Given the description of an element on the screen output the (x, y) to click on. 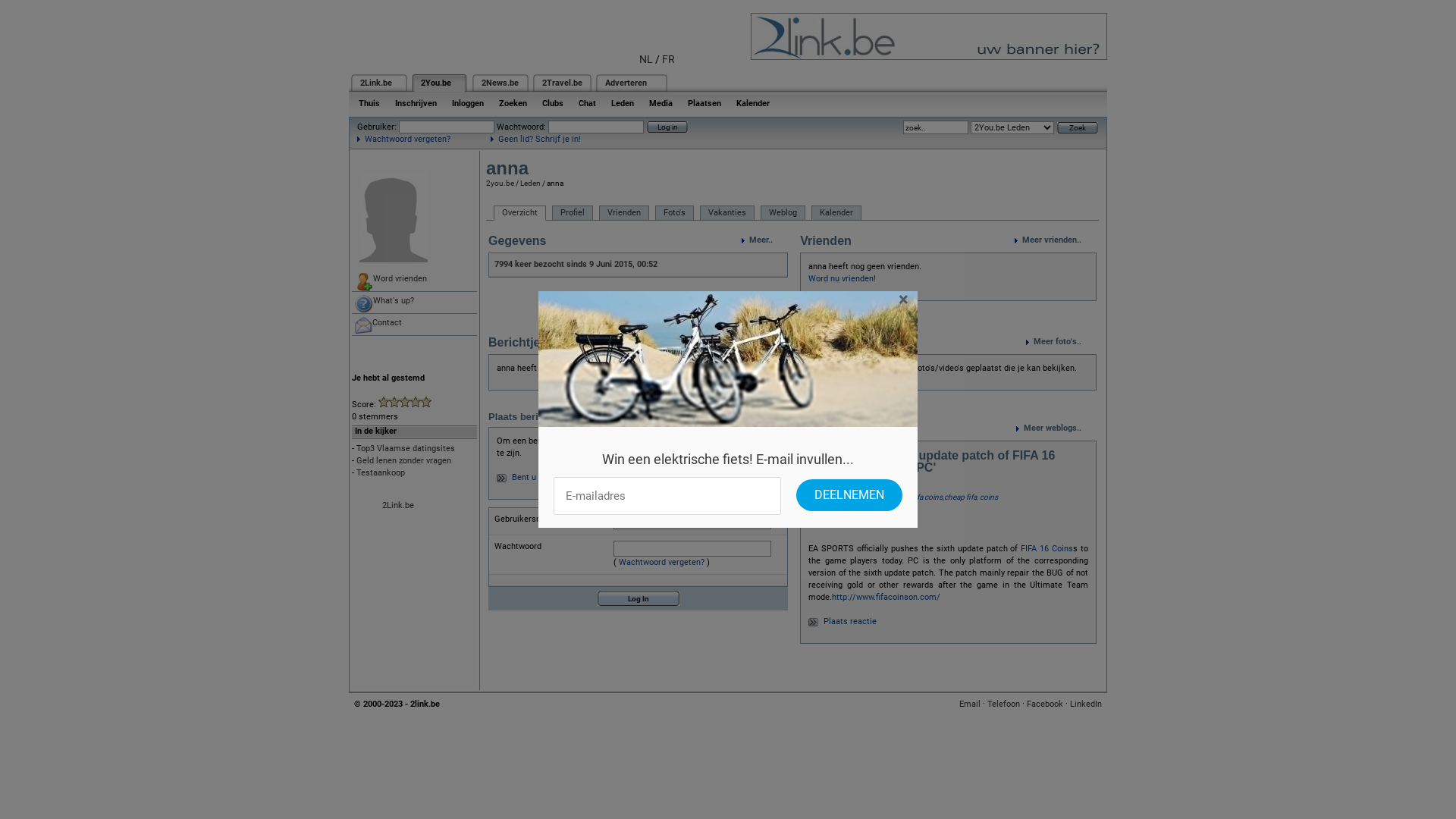
Leden Element type: text (530, 182)
Chat Element type: text (587, 103)
Weblog Element type: text (782, 212)
Wachtwoord vergeten? Element type: text (661, 562)
FIFA 16 Coins Element type: text (1046, 548)
Geen lid? Schrijf je in! Element type: text (535, 139)
Plaats reactie Element type: text (849, 621)
Word vrienden Element type: text (413, 280)
Email Element type: text (969, 704)
Profiel Element type: text (572, 212)
2Link.be Element type: text (398, 505)
http://www.fifacoinson.com/ Element type: text (885, 597)
2Link.be Element type: text (376, 82)
Meer vrienden.. Element type: text (1055, 240)
Zoek Element type: text (1077, 126)
What's up? Element type: text (413, 302)
Testaankoop Element type: text (380, 472)
Vakanties Element type: text (726, 212)
coins Element type: text (988, 496)
Meer weblogs.. Element type: text (1056, 428)
Zoeken Element type: text (512, 103)
Log In Element type: text (638, 598)
NL Element type: text (645, 59)
Meer foto's.. Element type: text (1061, 341)
Foto's Element type: text (674, 212)
Facebook Element type: text (1044, 704)
Overzicht Element type: text (519, 212)
Kalender Element type: text (836, 212)
2News.be Element type: text (499, 82)
FR Element type: text (668, 59)
Geld lenen zonder vragen Element type: text (403, 460)
Inschrijven Element type: text (415, 103)
2You.be Element type: text (435, 82)
Inloggen Element type: text (467, 103)
Clubs Element type: text (552, 103)
2you.be Element type: text (500, 182)
Plaatsen Element type: text (704, 103)
2Travel.be Element type: text (562, 82)
Adverteren Element type: text (625, 82)
Meer.. Element type: text (764, 240)
Thuis Element type: text (369, 103)
fifa 16 coins,buy Element type: text (881, 496)
Leden Element type: text (622, 103)
Media Element type: text (660, 103)
LinkedIn Element type: text (1085, 704)
Wachtwoord vergeten? Element type: text (403, 139)
Word nu vrienden! Element type: text (841, 278)
Vrienden Element type: text (624, 212)
Telefoon Element type: text (1003, 704)
Kalender Element type: text (752, 103)
Contact Element type: text (413, 324)
Bent u nog geen lid? Word lid! Element type: text (567, 477)
Log in Element type: text (666, 126)
fifa coins,cheap fifa Element type: text (944, 496)
Top3 Vlaamse datingsites Element type: text (405, 448)
